Given the description of an element on the screen output the (x, y) to click on. 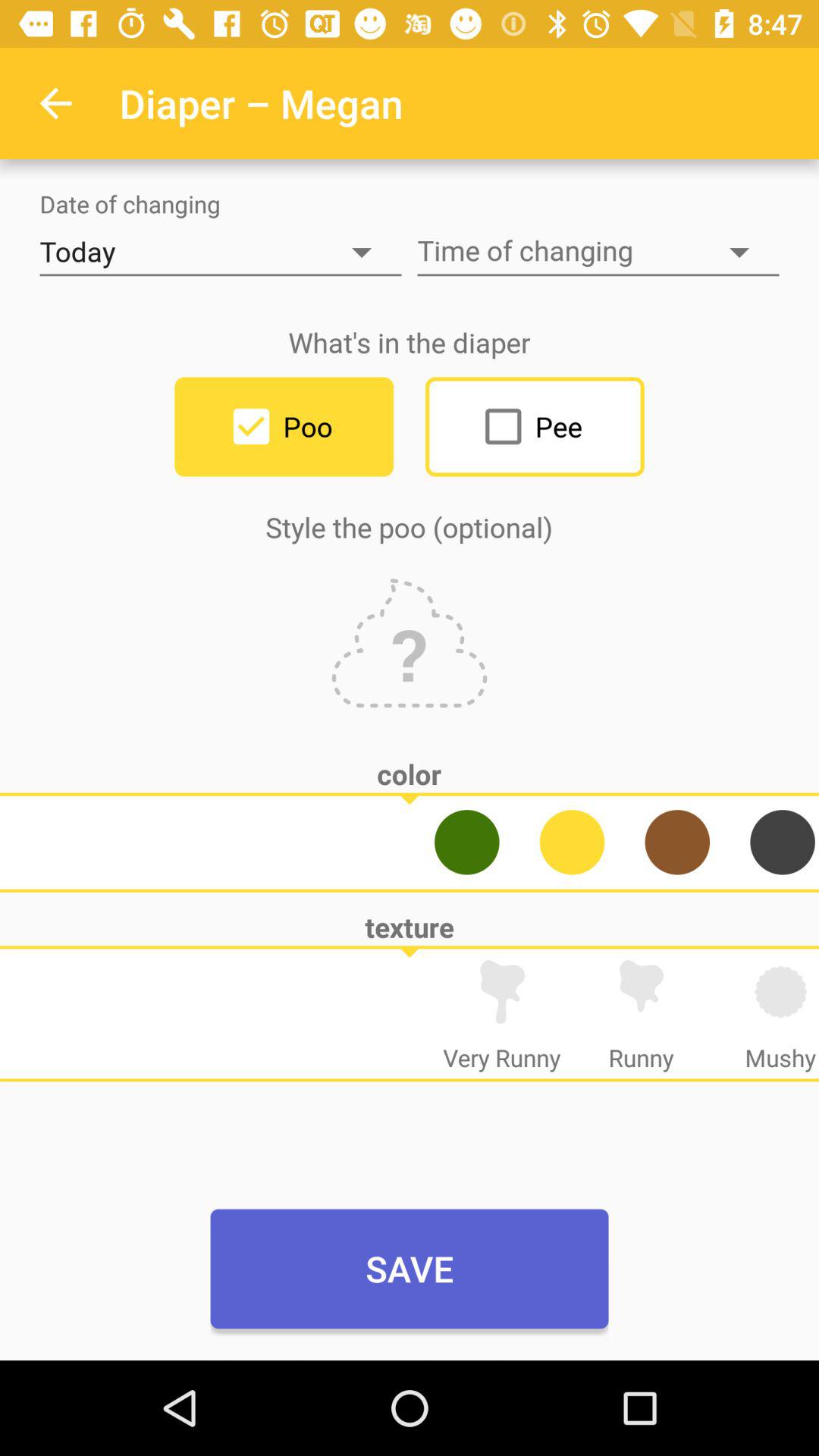
change the color (571, 842)
